Given the description of an element on the screen output the (x, y) to click on. 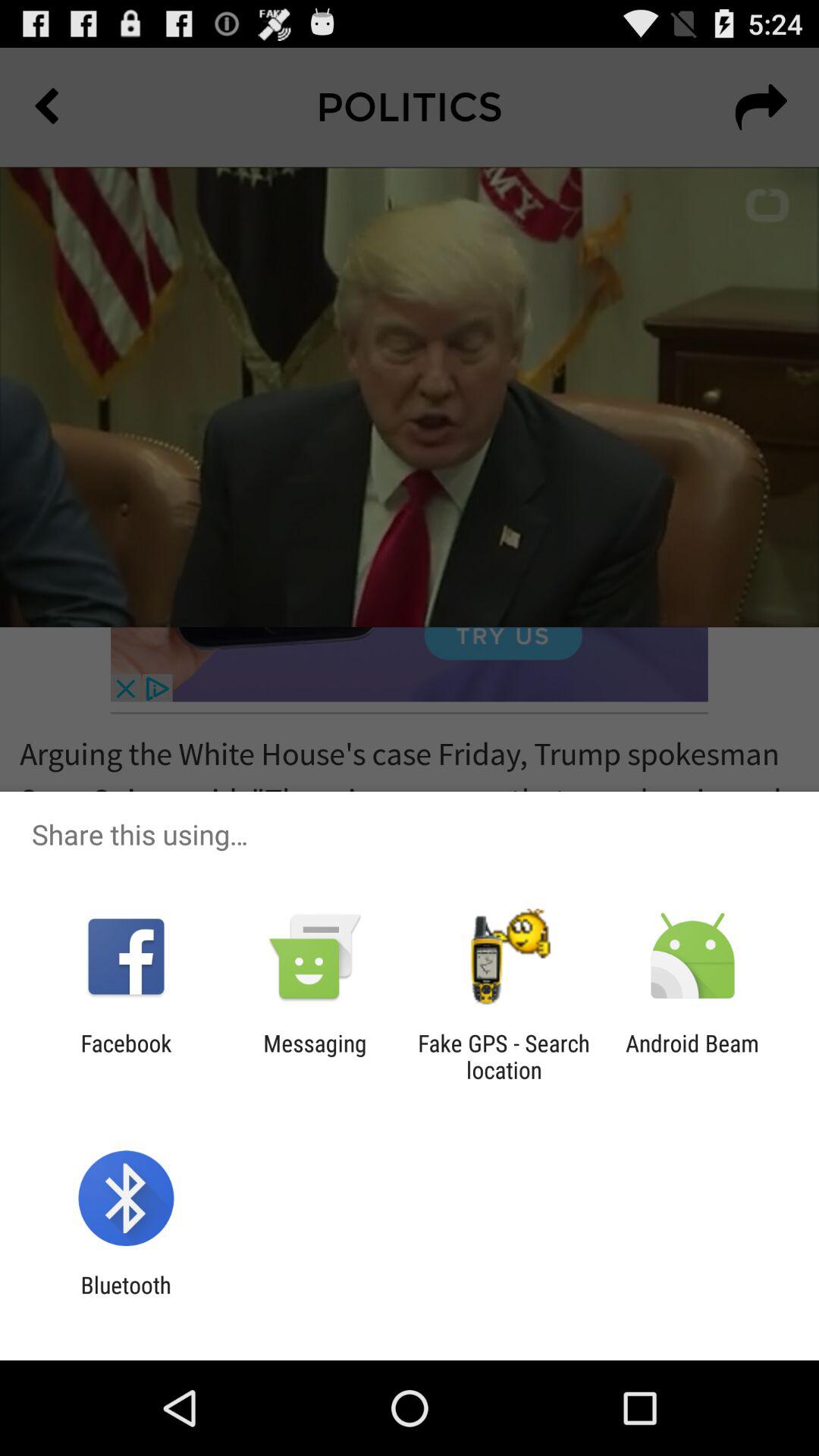
turn on facebook app (125, 1056)
